Given the description of an element on the screen output the (x, y) to click on. 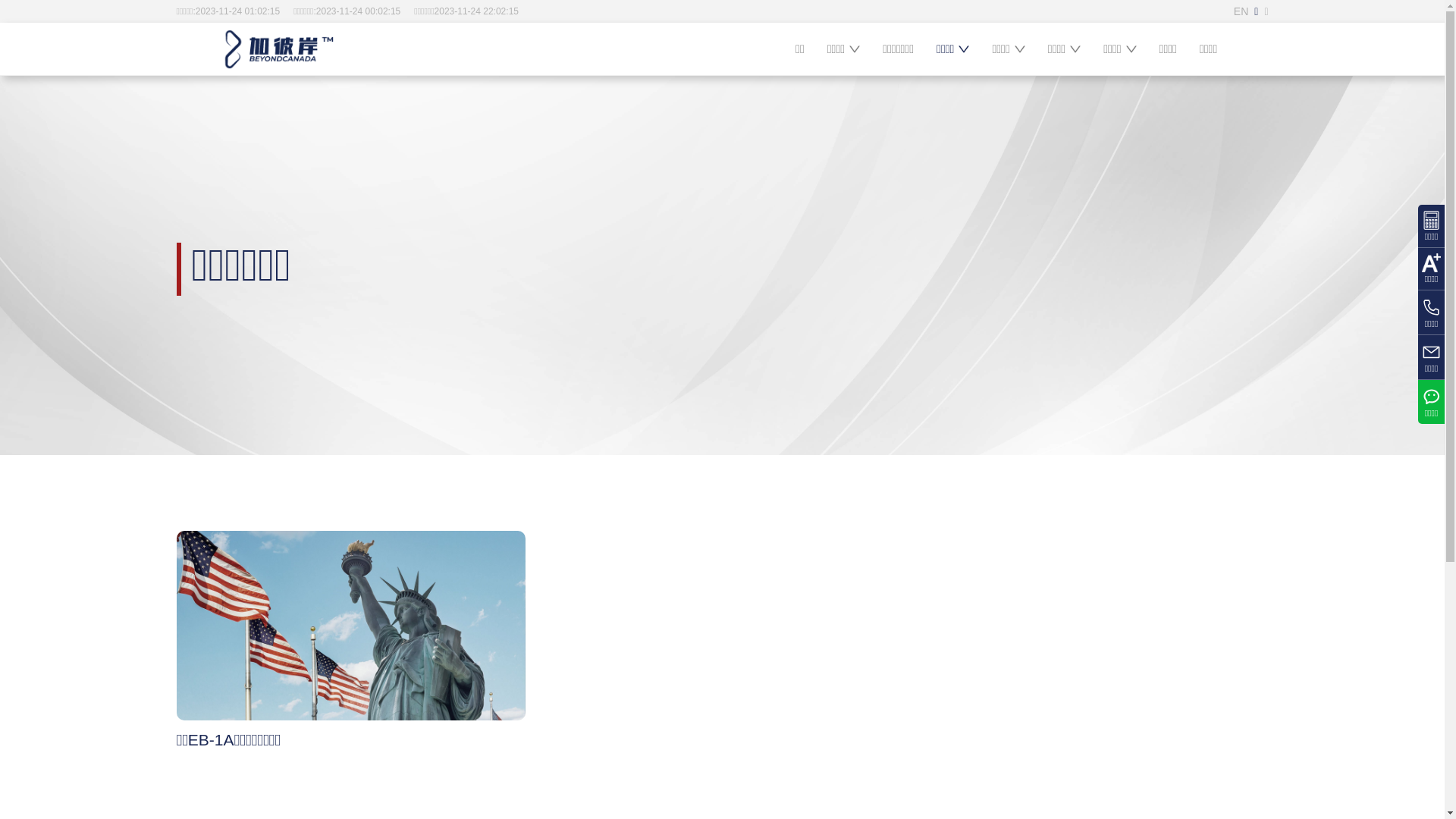
EN Element type: text (1240, 10)
